Given the description of an element on the screen output the (x, y) to click on. 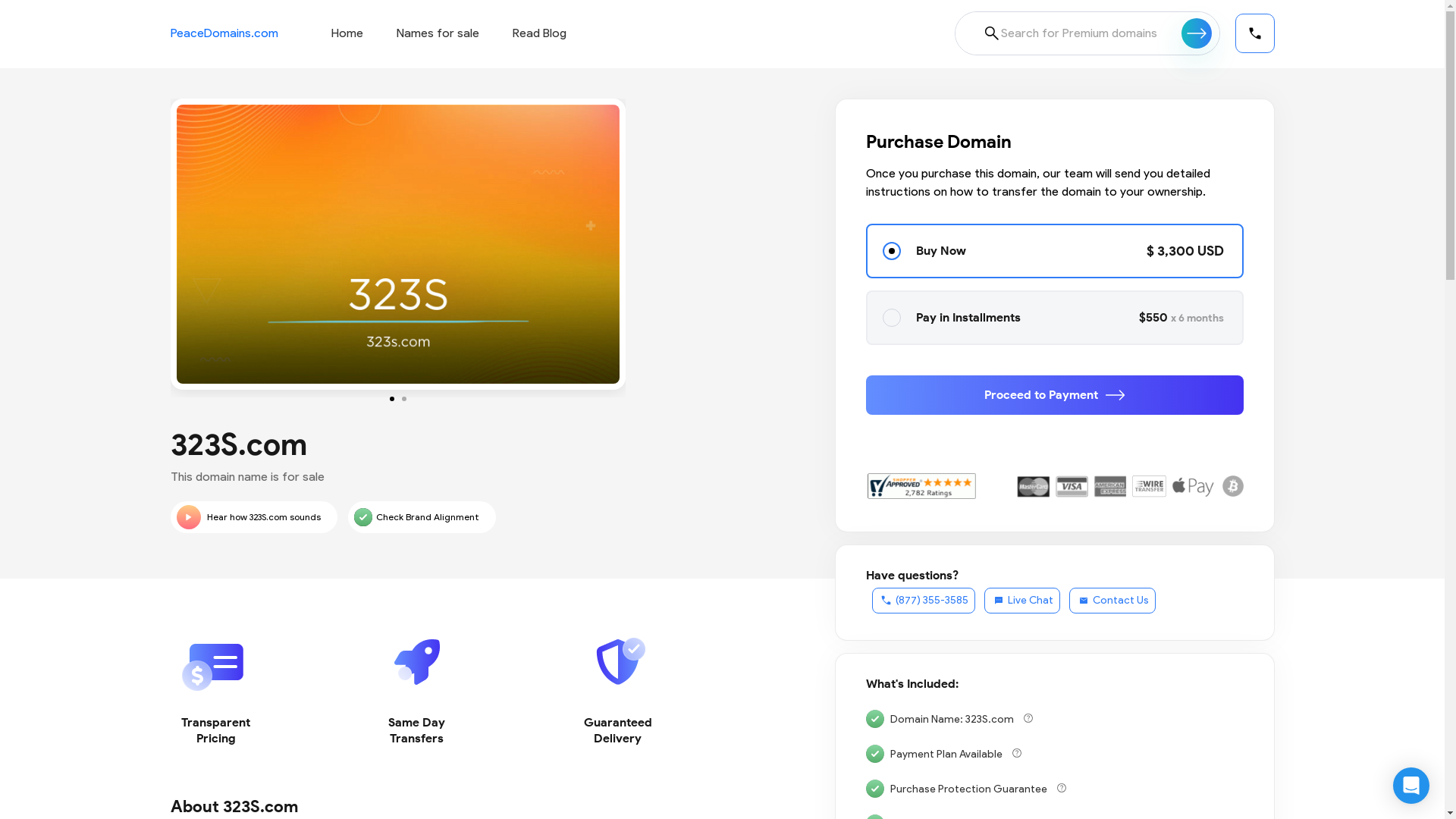
PeaceDomains.com Element type: text (223, 33)
Live Chat Element type: text (1022, 600)
Hear how 323S.com sounds Element type: text (252, 517)
Proceed to Payment Element type: text (1054, 394)
Check Brand Alignment Element type: text (421, 517)
(877) 355-3585 Element type: text (923, 600)
Read Blog Element type: text (539, 33)
Home Element type: text (346, 33)
Buy Now
$ 3,300 USD Element type: text (1054, 250)
Contact Us Element type: text (1112, 600)
Names for sale Element type: text (436, 33)
